Given the description of an element on the screen output the (x, y) to click on. 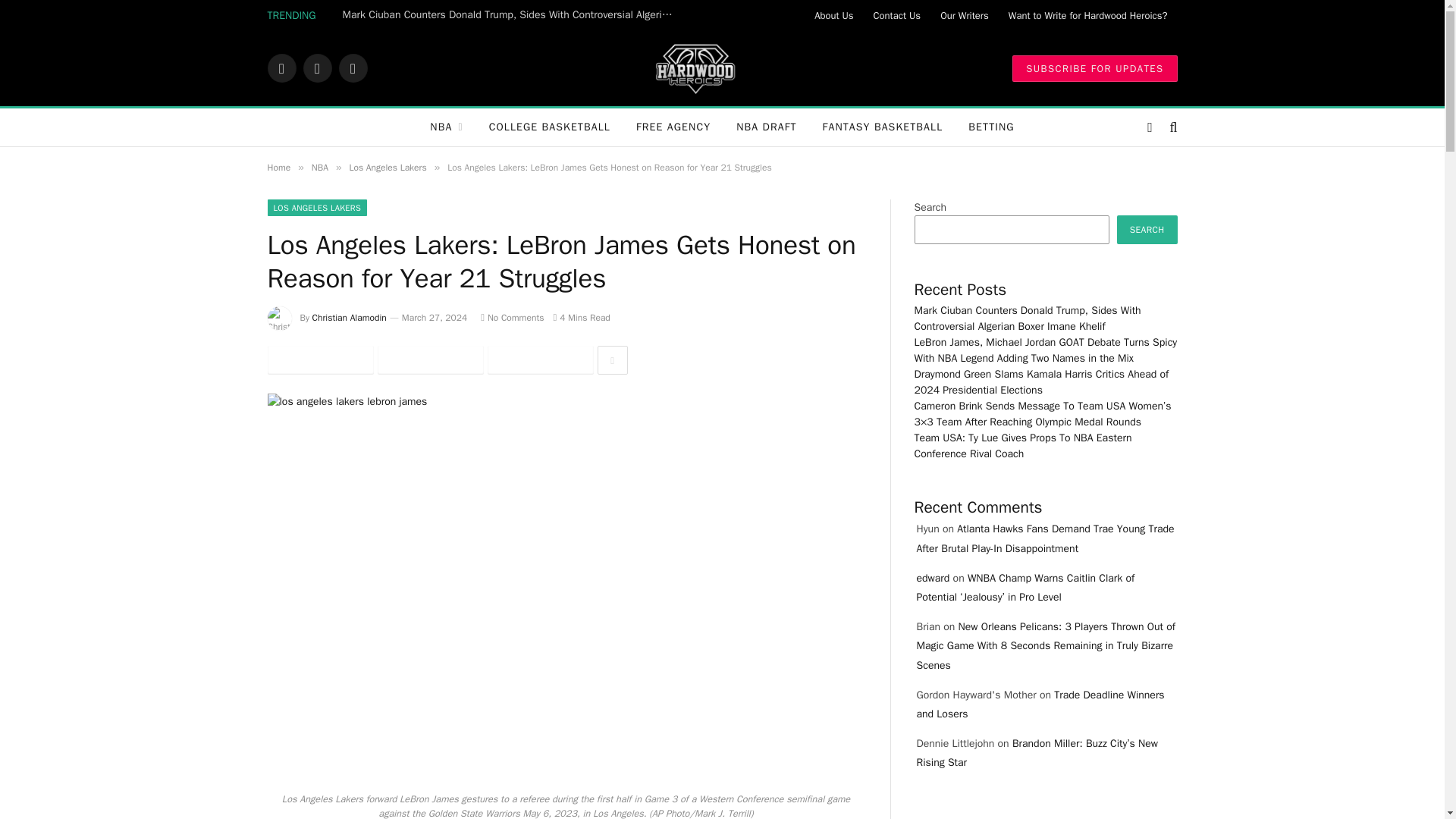
Share on Pinterest (539, 359)
Facebook (280, 68)
Switch to Dark Design - easier on eyes. (1149, 127)
Want to Write for Hardwood Heroics? (1087, 15)
Share on Facebook (319, 359)
Posts by Christian Alamodin (350, 317)
Our Writers (964, 15)
SUBSCRIBE FOR UPDATES (1093, 67)
Twitter (316, 68)
Show More Social Sharing (611, 359)
About Us (834, 15)
Instagram (351, 68)
NBA (446, 127)
